Given the description of an element on the screen output the (x, y) to click on. 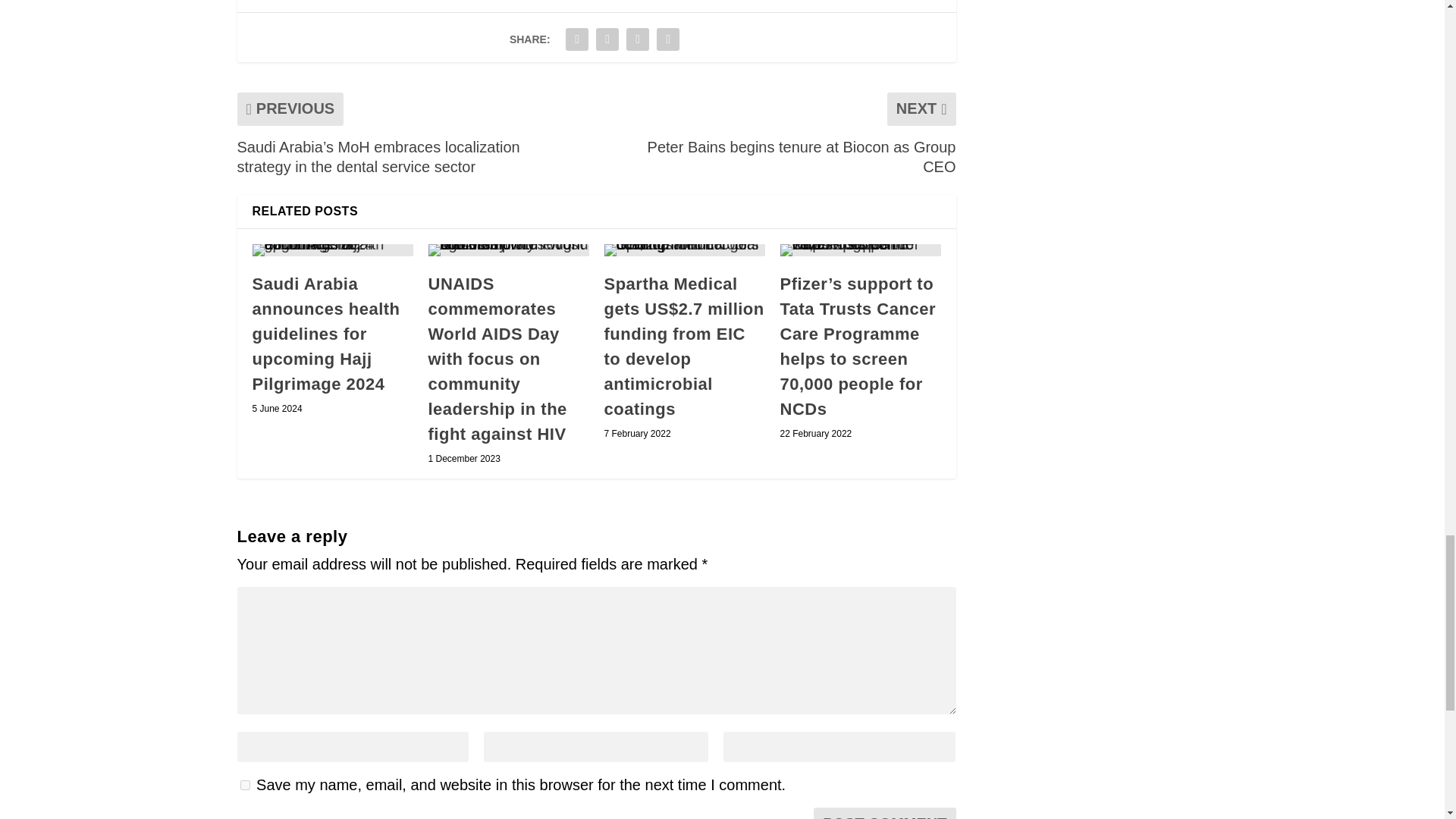
Post Comment (884, 813)
yes (244, 785)
